Given the description of an element on the screen output the (x, y) to click on. 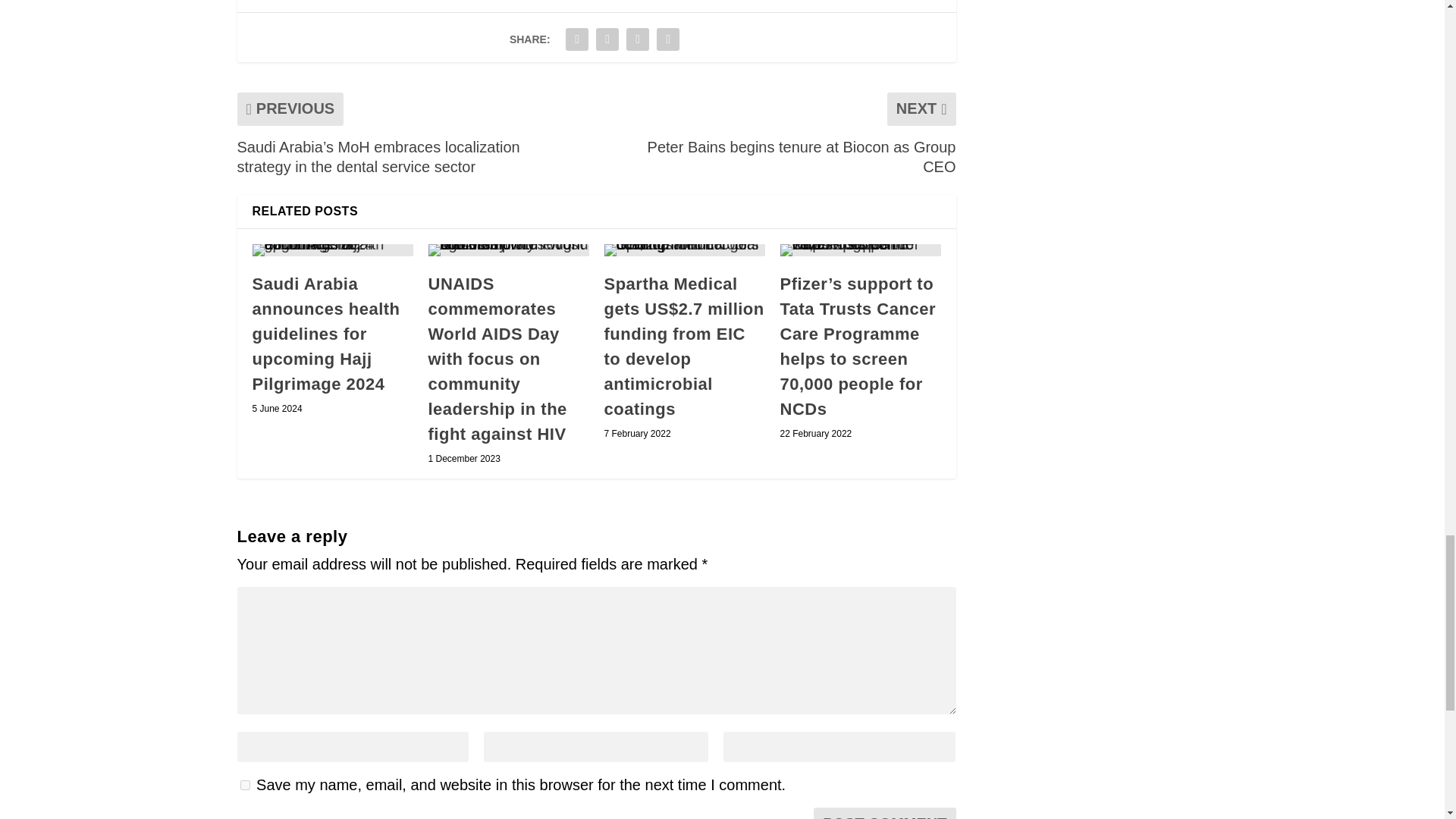
Post Comment (884, 813)
yes (244, 785)
